Given the description of an element on the screen output the (x, y) to click on. 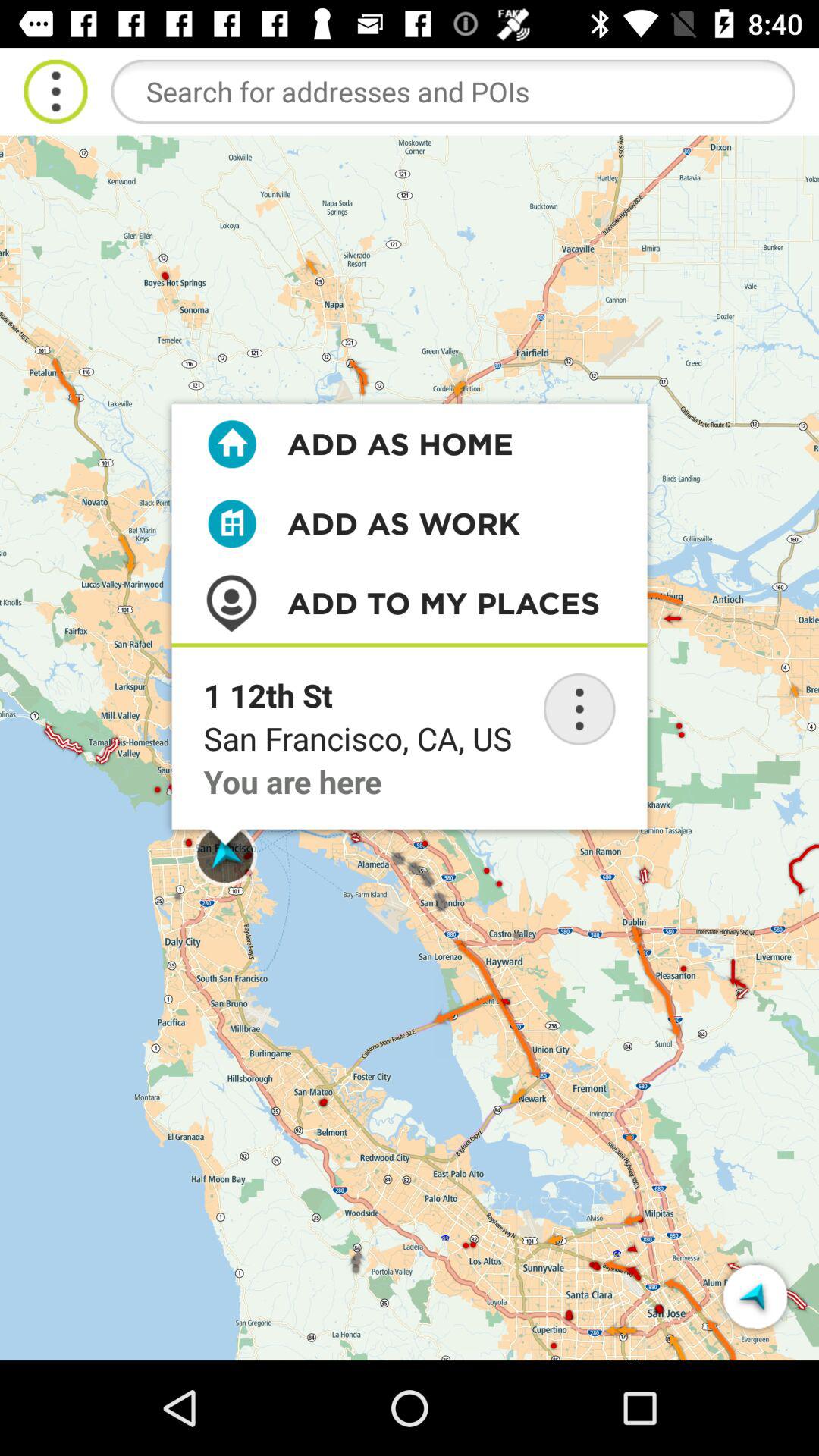
menu dropdown (55, 91)
